Given the description of an element on the screen output the (x, y) to click on. 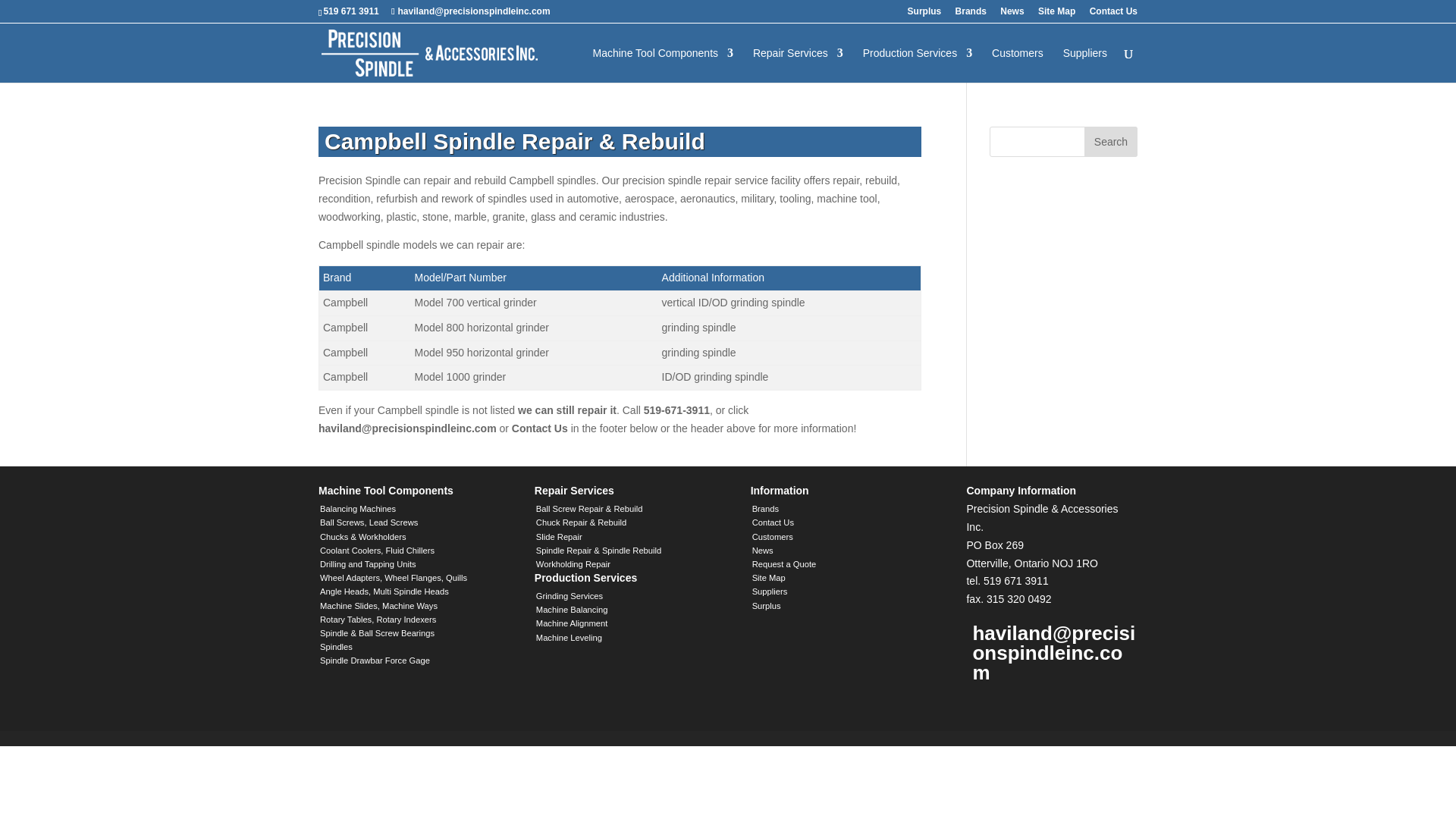
Machine Tool Components (662, 64)
News (1011, 14)
Brands (971, 14)
Site Map (1056, 14)
Repair Services (797, 64)
Search (1110, 141)
Surplus (924, 14)
Contact Us (1113, 14)
